Given the description of an element on the screen output the (x, y) to click on. 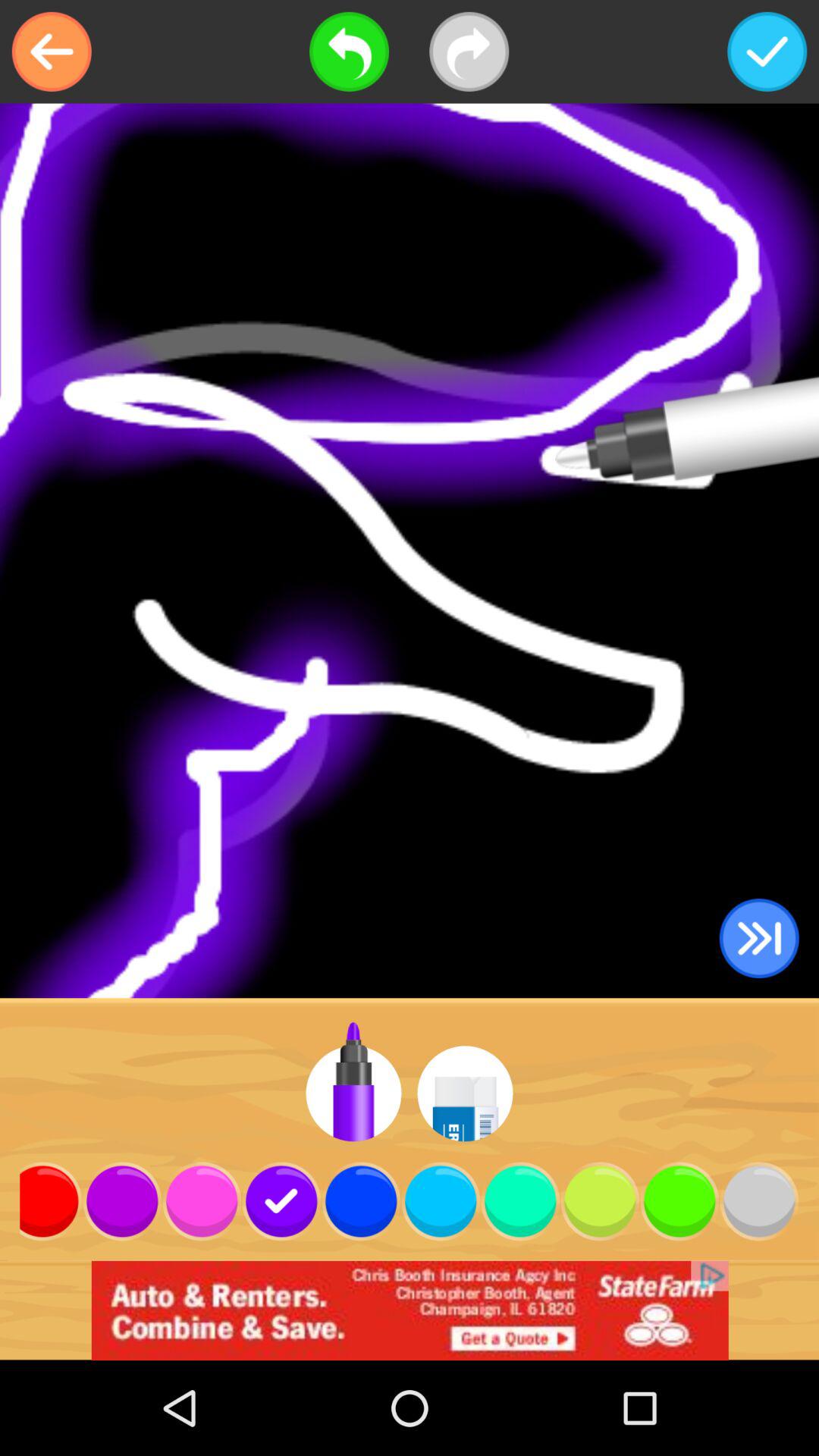
go next (759, 938)
